Given the description of an element on the screen output the (x, y) to click on. 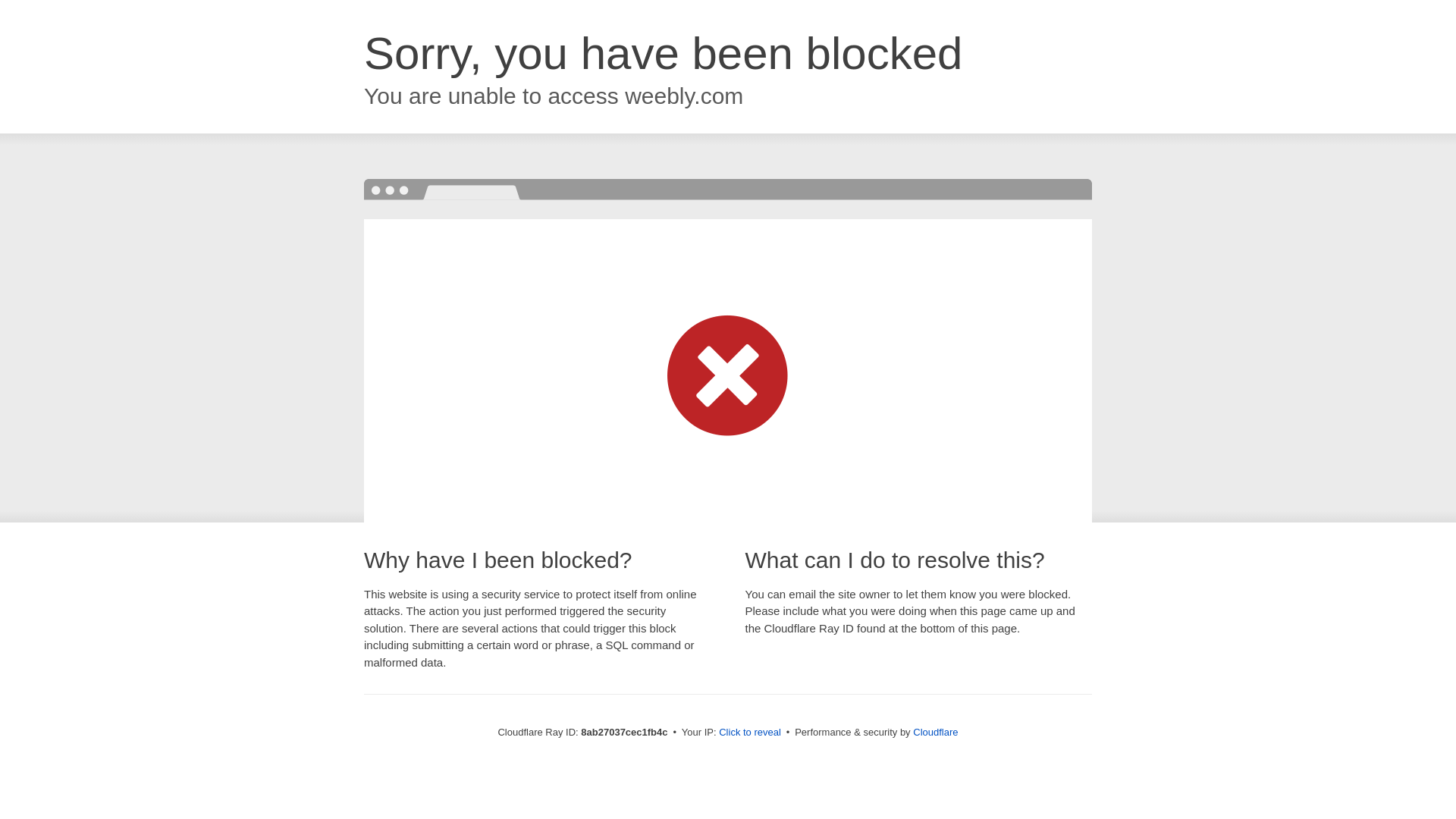
Click to reveal (749, 732)
Cloudflare (935, 731)
